Given the description of an element on the screen output the (x, y) to click on. 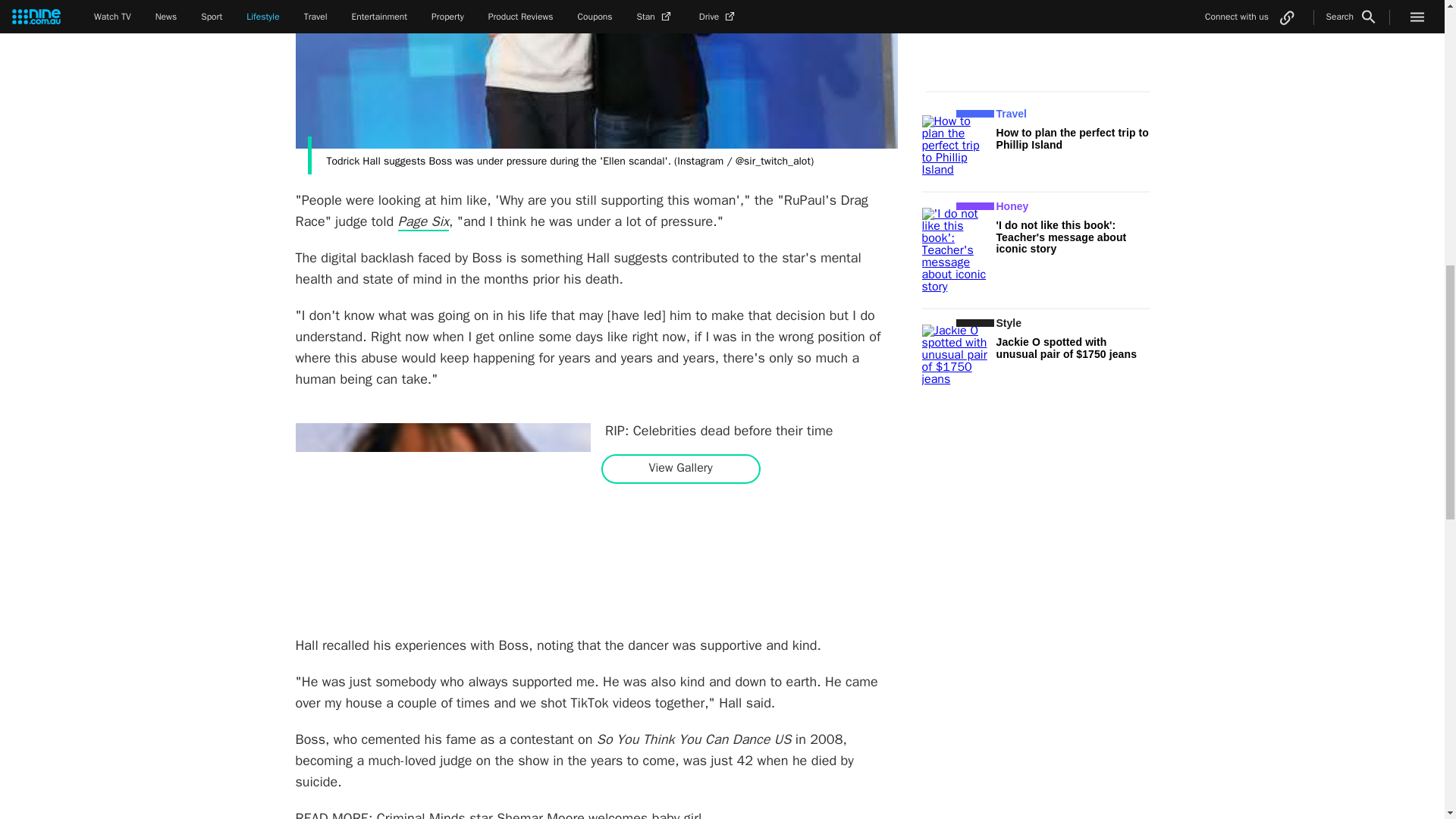
View Gallery (680, 468)
Page Six (422, 221)
Page Six (422, 221)
Criminal Minds star Shemar Moore welcomes baby girl (539, 814)
